Given the description of an element on the screen output the (x, y) to click on. 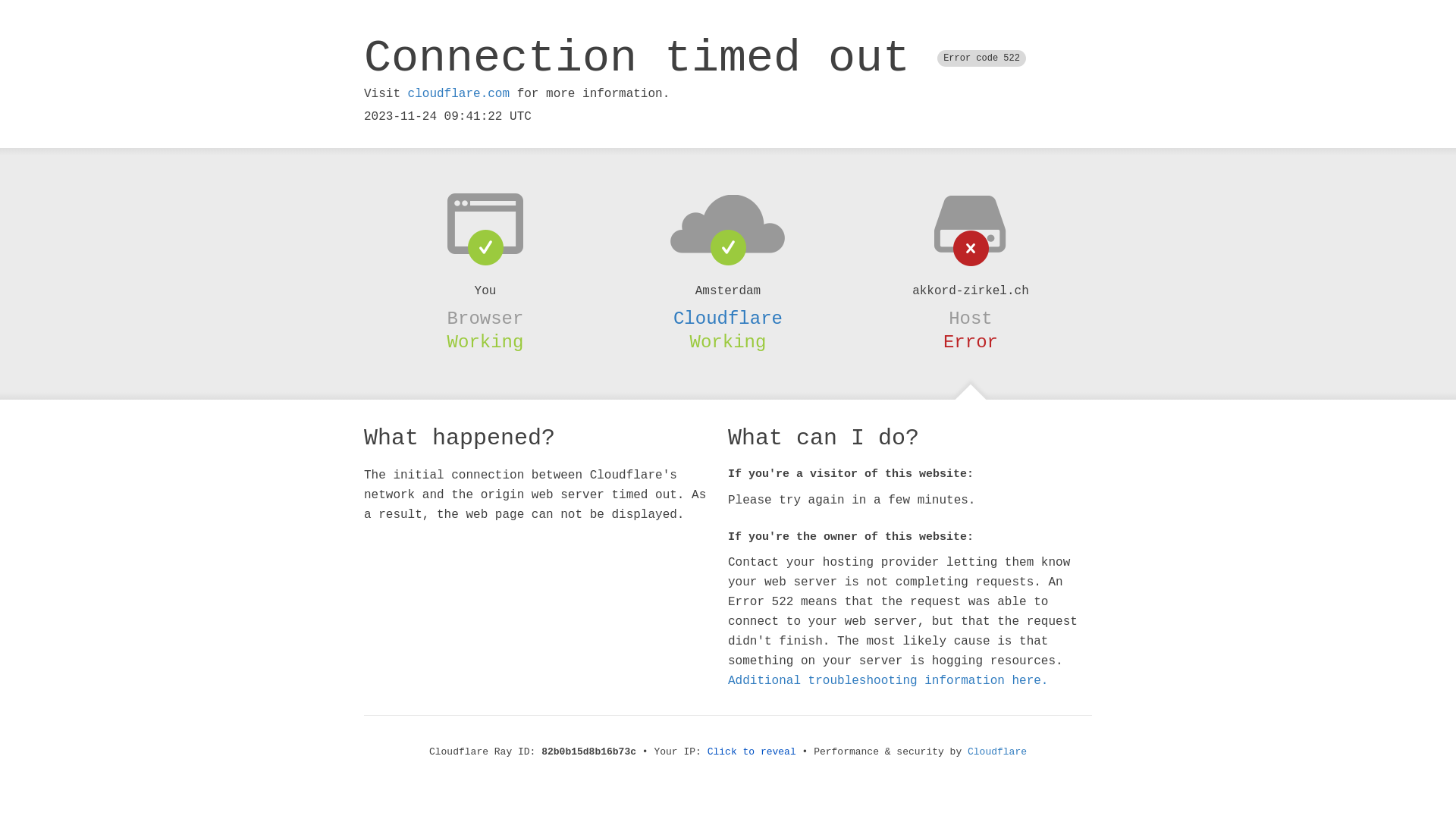
Click to reveal Element type: text (751, 751)
Cloudflare Element type: text (727, 318)
Additional troubleshooting information here. Element type: text (888, 680)
Cloudflare Element type: text (996, 751)
cloudflare.com Element type: text (458, 93)
